Given the description of an element on the screen output the (x, y) to click on. 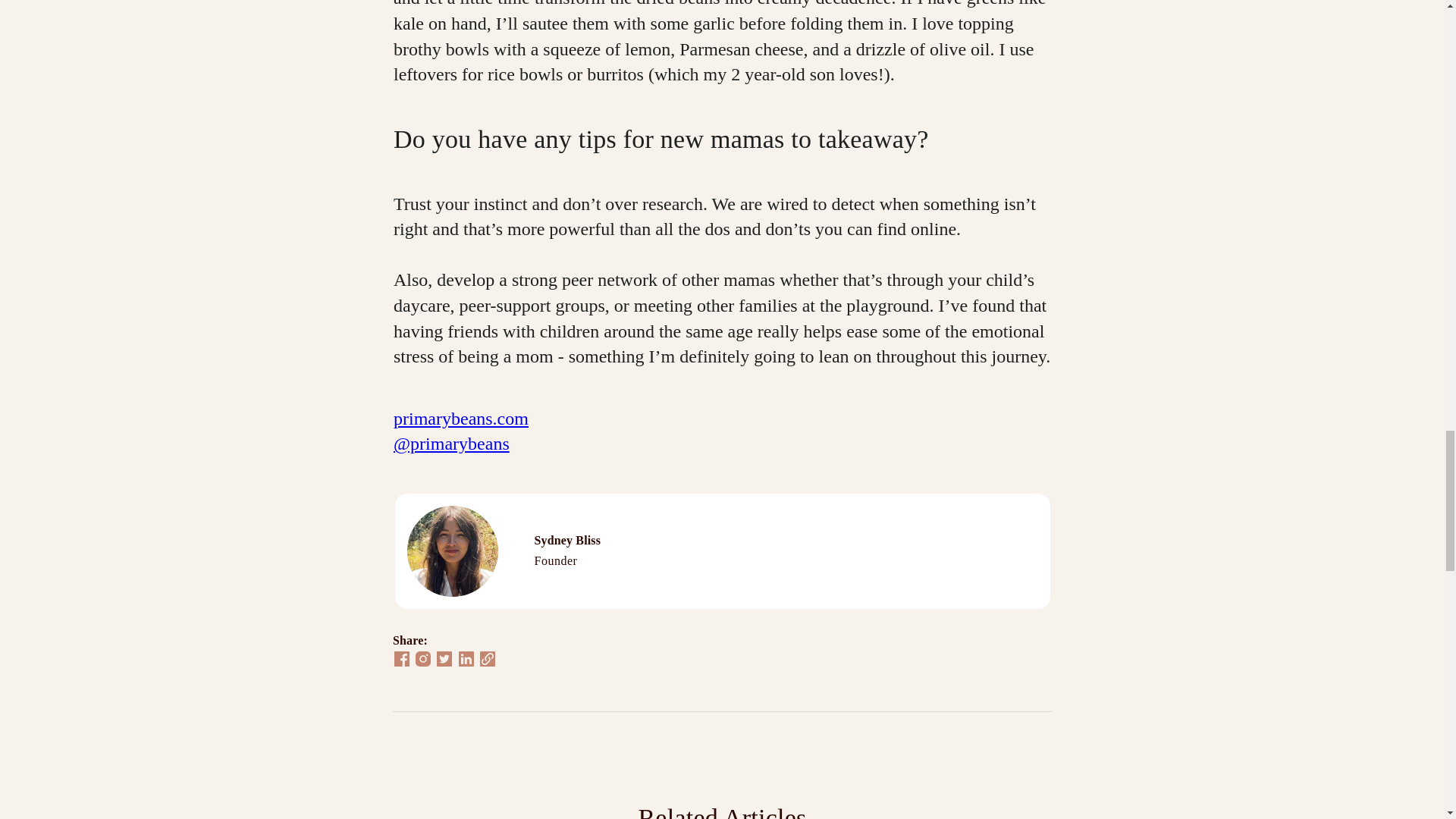
primarybeans.com (460, 418)
